Given the description of an element on the screen output the (x, y) to click on. 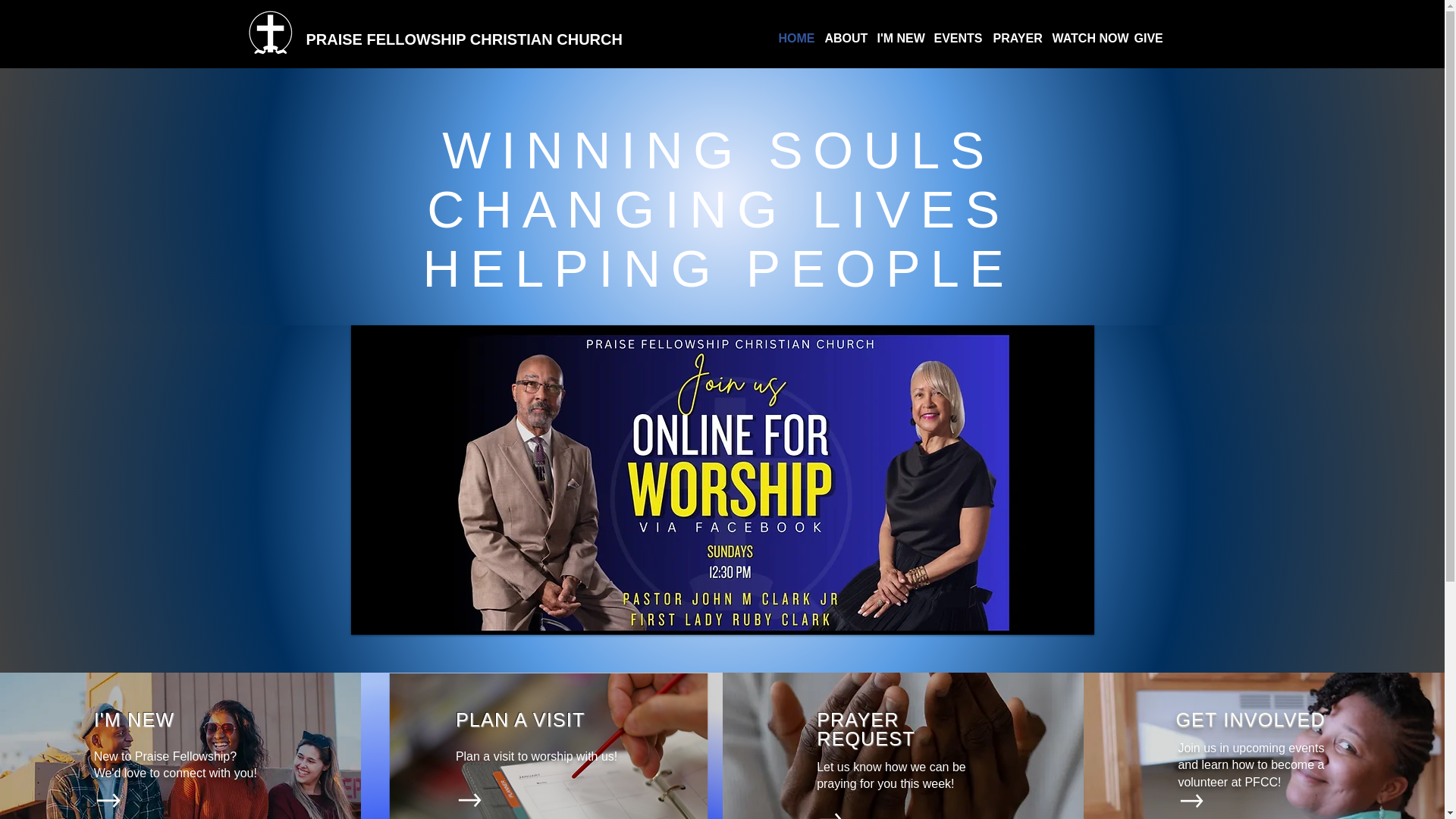
ABOUT (842, 38)
EVENTS (955, 38)
HOME (793, 38)
WATCH NOW (1085, 38)
GIVE (1146, 38)
PRAYER (1015, 38)
PRAISE FELLOWSHIP CHRISTIAN CHURCH (464, 38)
I'M NEW (897, 38)
